Given the description of an element on the screen output the (x, y) to click on. 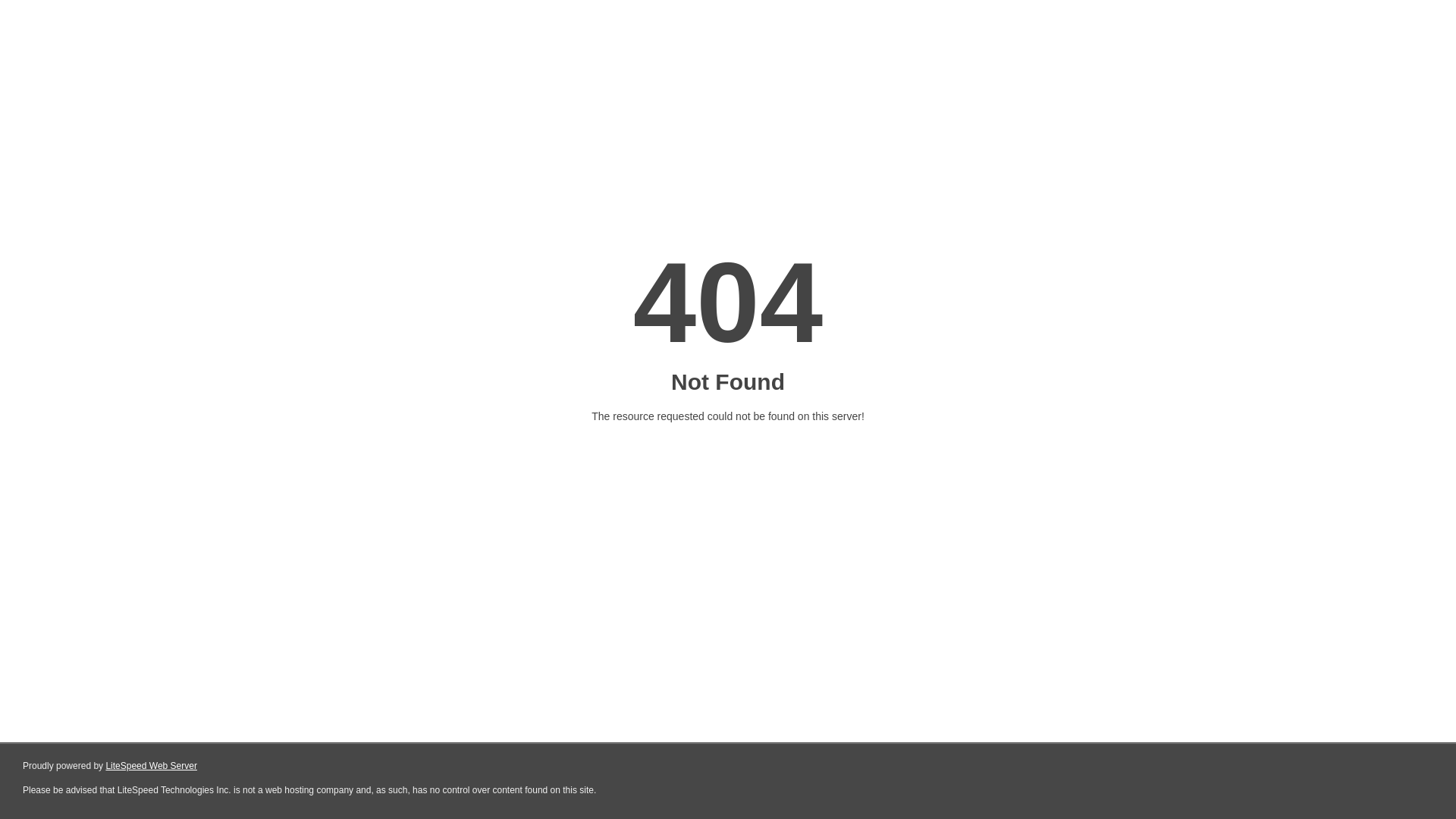
LiteSpeed Web Server Element type: text (151, 765)
